Given the description of an element on the screen output the (x, y) to click on. 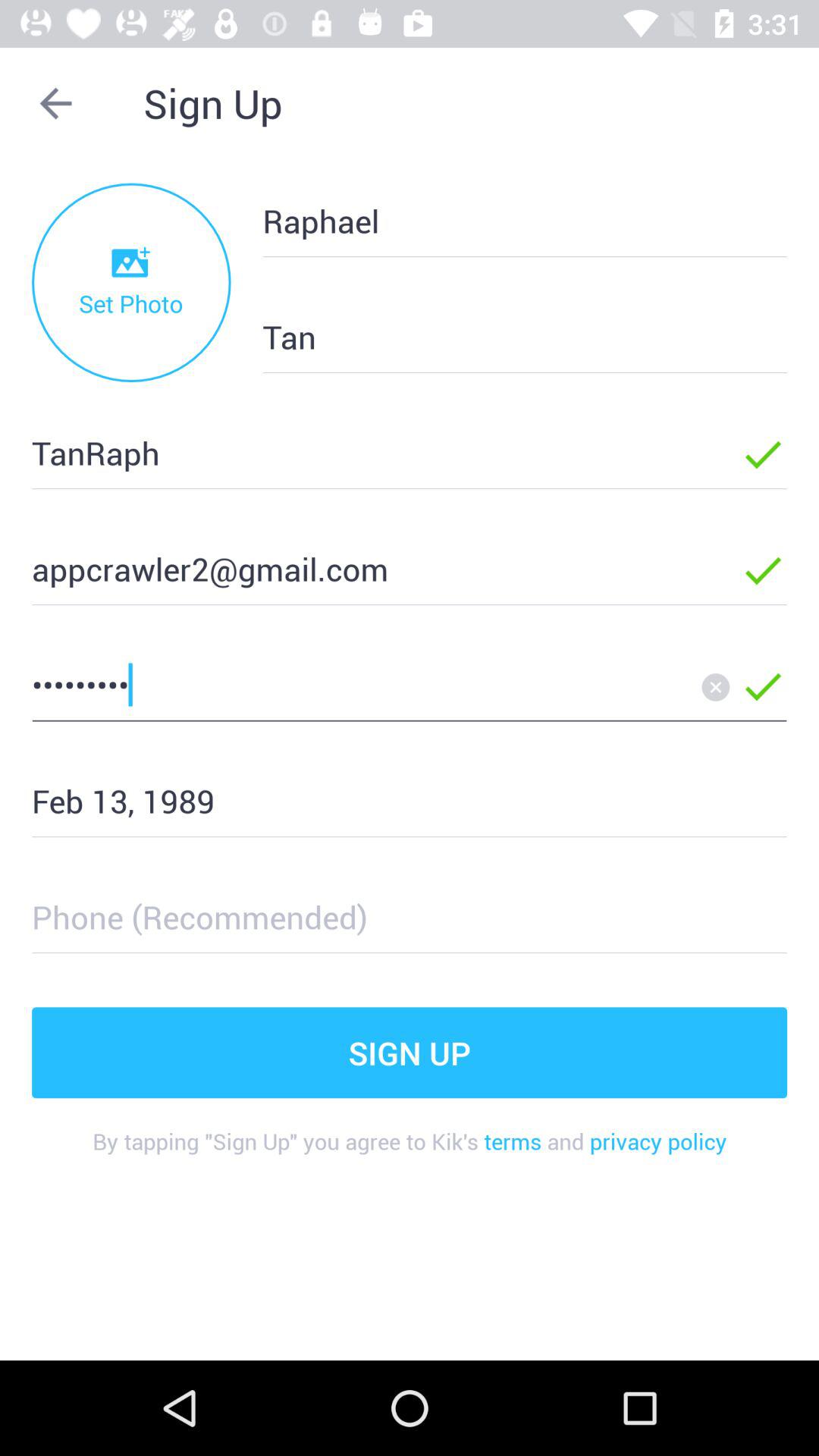
swipe until appcrawler2@gmail.com item (361, 568)
